Given the description of an element on the screen output the (x, y) to click on. 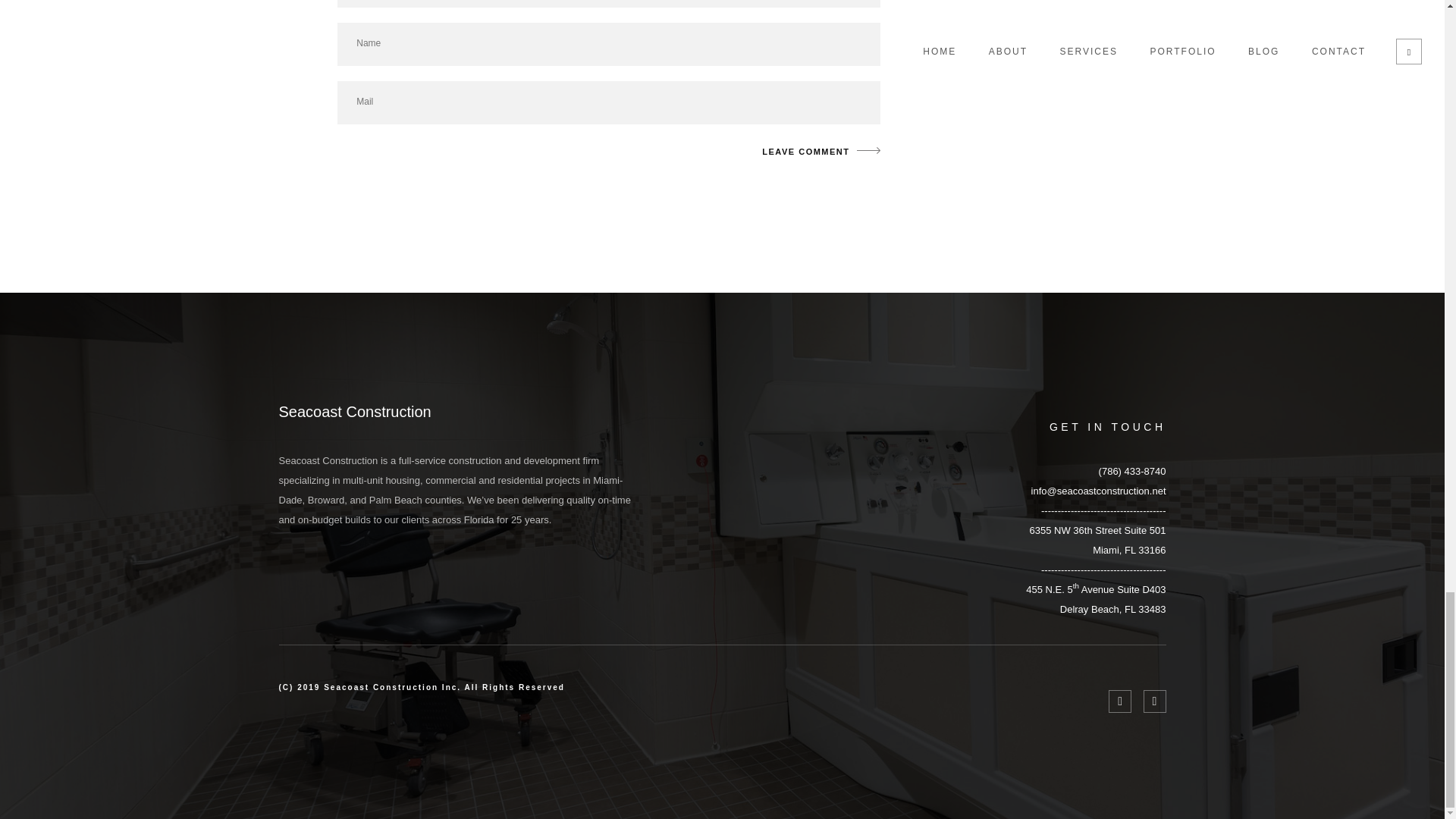
LEAVE COMMENT (1097, 540)
Seacoast Construction (816, 151)
LEAVE COMMENT (354, 411)
